Given the description of an element on the screen output the (x, y) to click on. 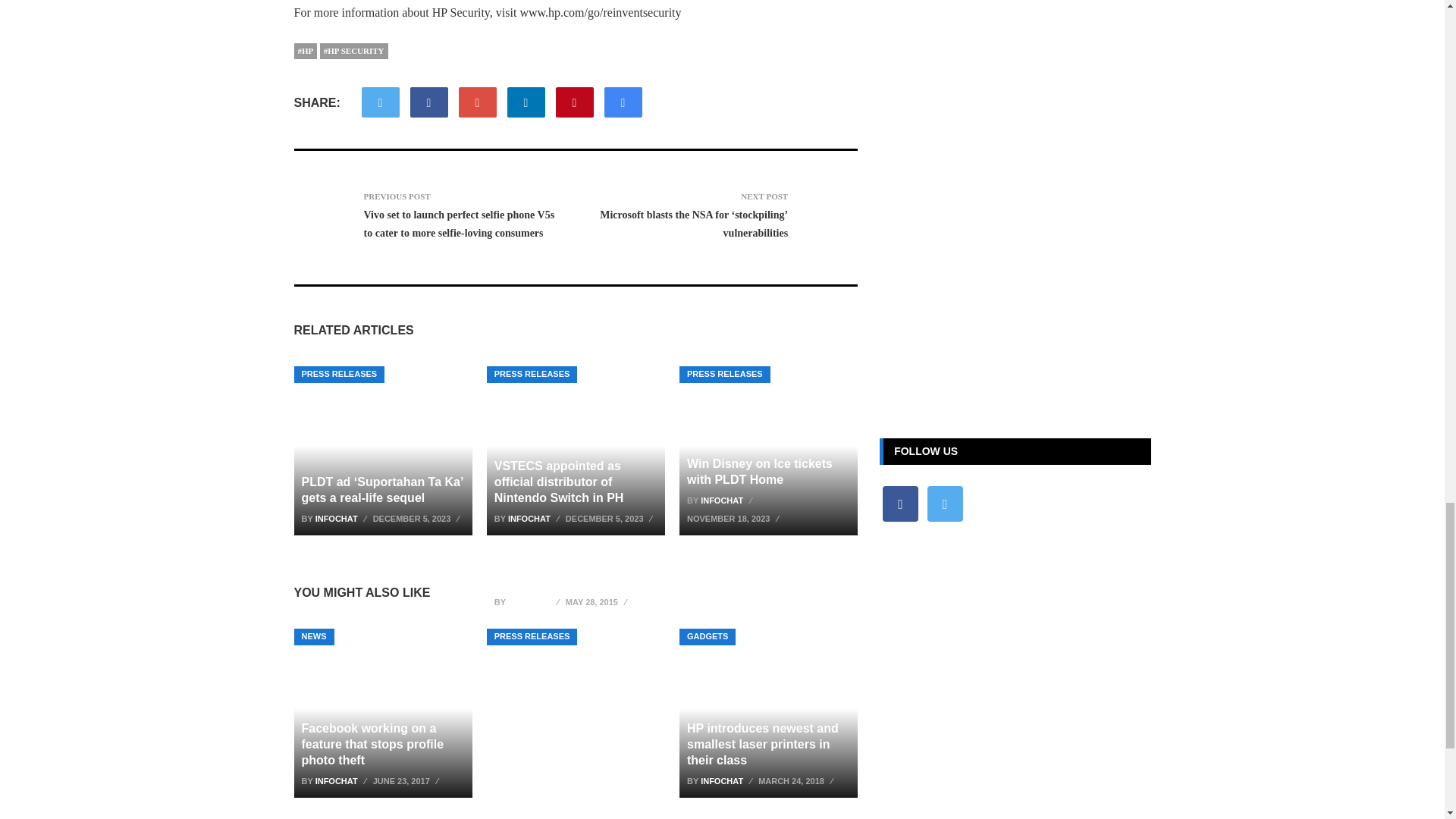
Saturday, March 24, 2018, 10:53 am (797, 781)
Thursday, May 28, 2015, 2:37 pm (598, 601)
Tuesday, December 5, 2023, 4:47 pm (418, 518)
Tuesday, December 5, 2023, 3:27 pm (611, 518)
Friday, June 23, 2017, 11:02 am (407, 781)
Saturday, November 18, 2023, 12:48 pm (735, 518)
